Given the description of an element on the screen output the (x, y) to click on. 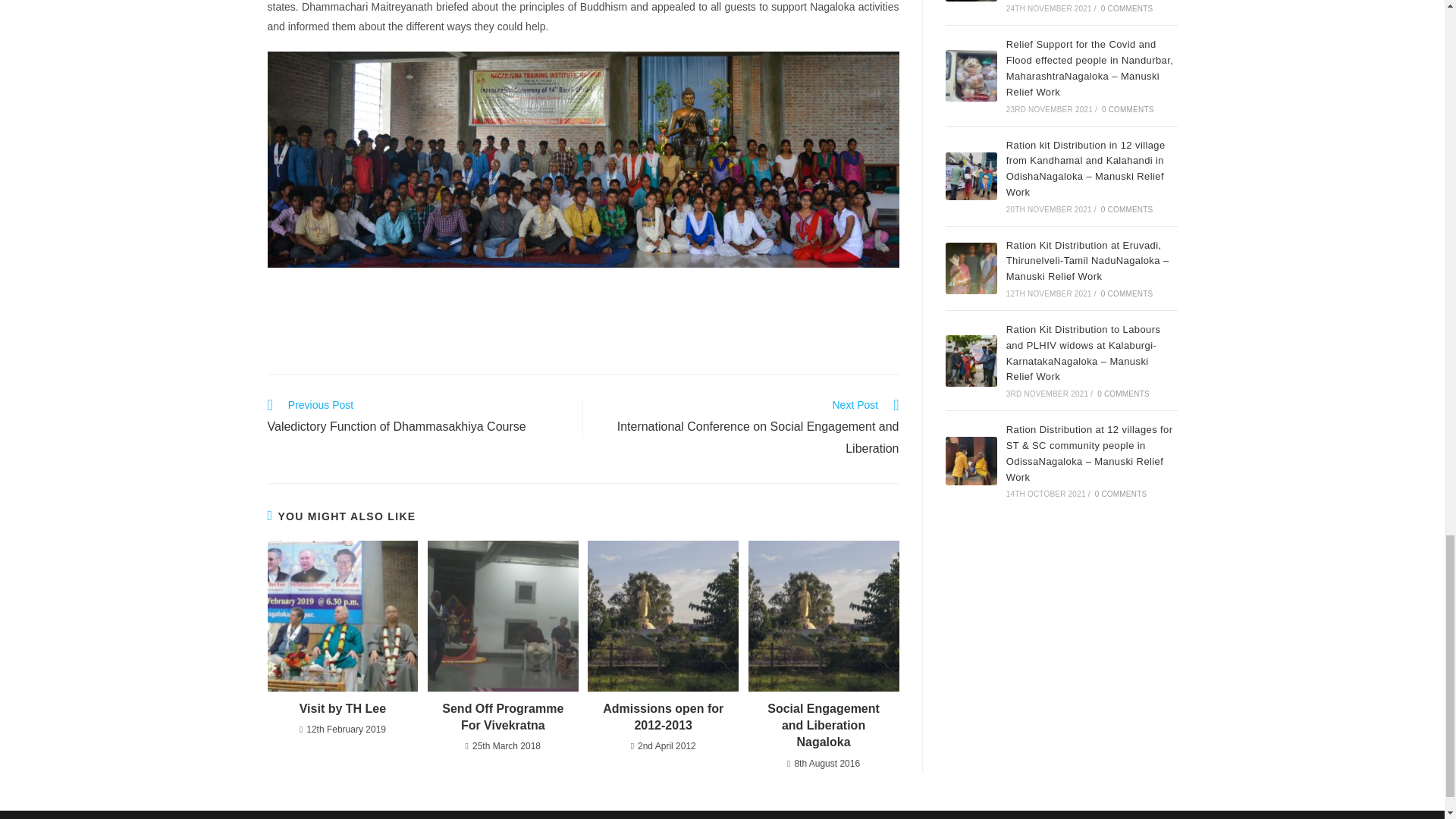
Send Off Programme For Vivekratna (502, 717)
Admissions open for 2012-2013 (662, 717)
Social Engagement and Liberation Nagaloka (823, 726)
Visit by TH Lee (342, 709)
